Given the description of an element on the screen output the (x, y) to click on. 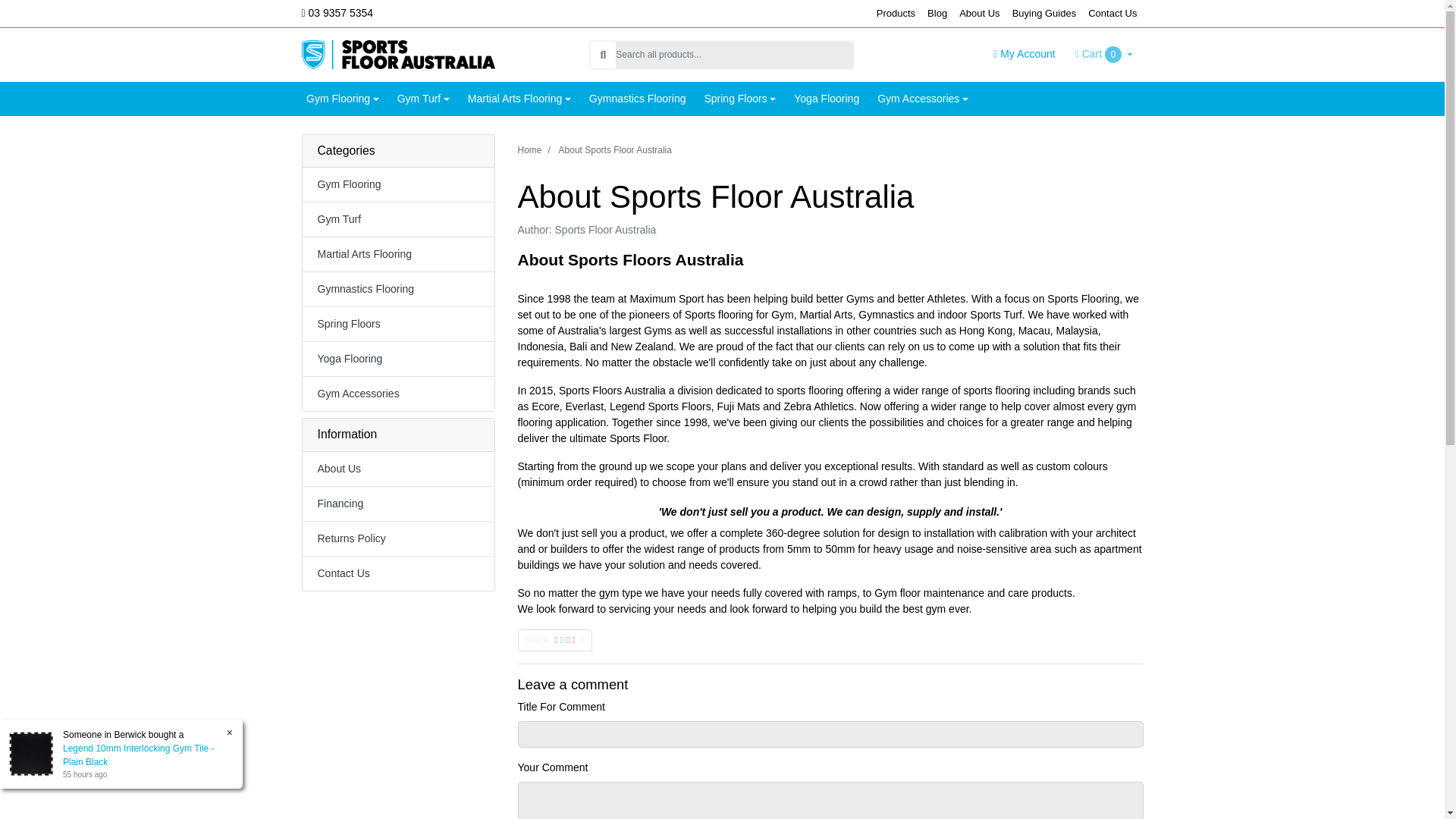
Gym Turf (423, 98)
Buying Guides (1044, 13)
About Us (979, 13)
Gym Flooring (342, 98)
Martial Arts Flooring (518, 98)
My Account (1024, 53)
03 9357 5354 (355, 12)
Products (895, 13)
Blog (937, 13)
Cart 0 (1103, 53)
Contact Us (1111, 13)
Search (602, 53)
